Given the description of an element on the screen output the (x, y) to click on. 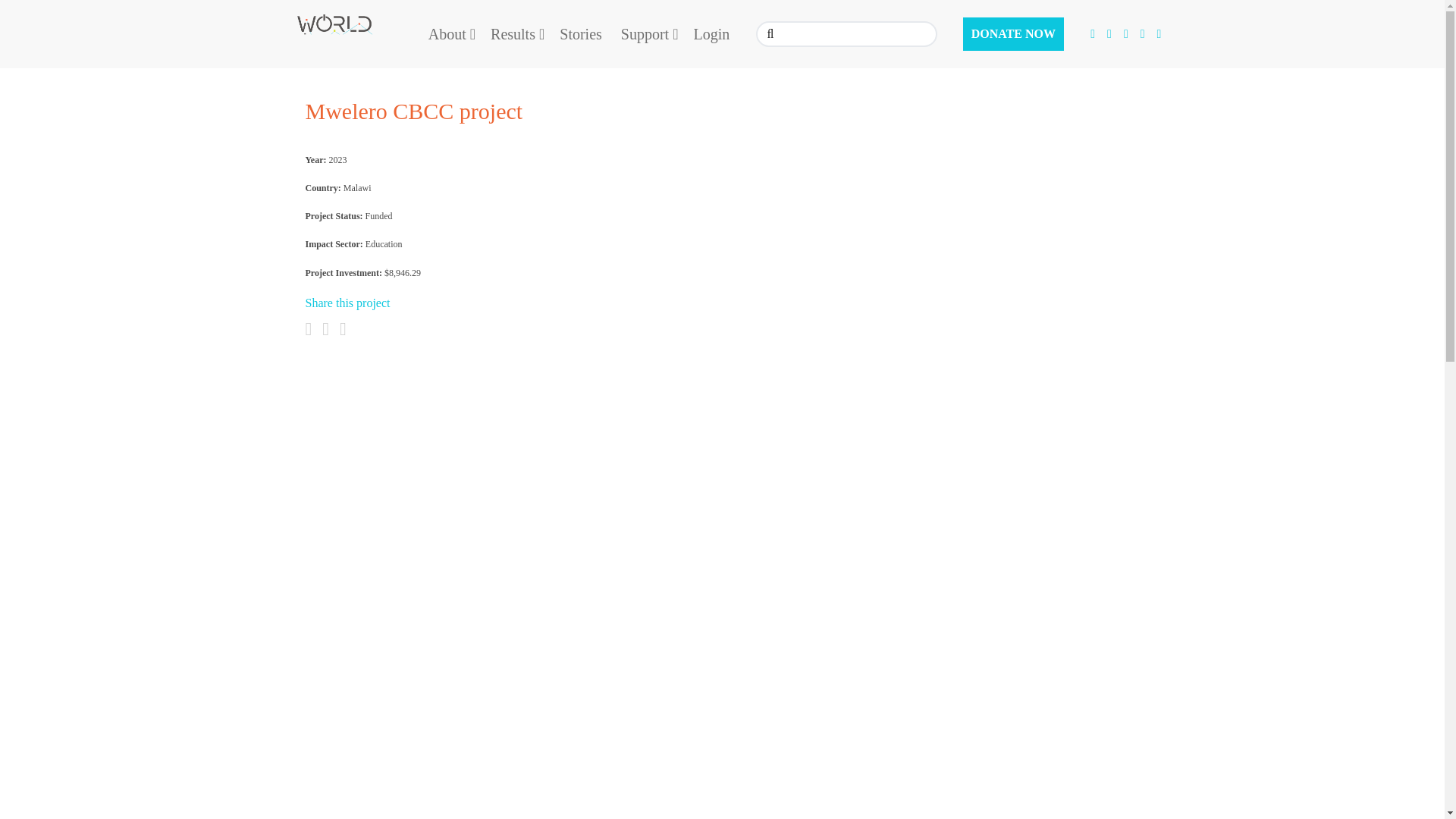
Stories (580, 34)
Login (711, 34)
Support (648, 34)
About (449, 34)
DONATE NOW (1013, 34)
Results (515, 34)
